Given the description of an element on the screen output the (x, y) to click on. 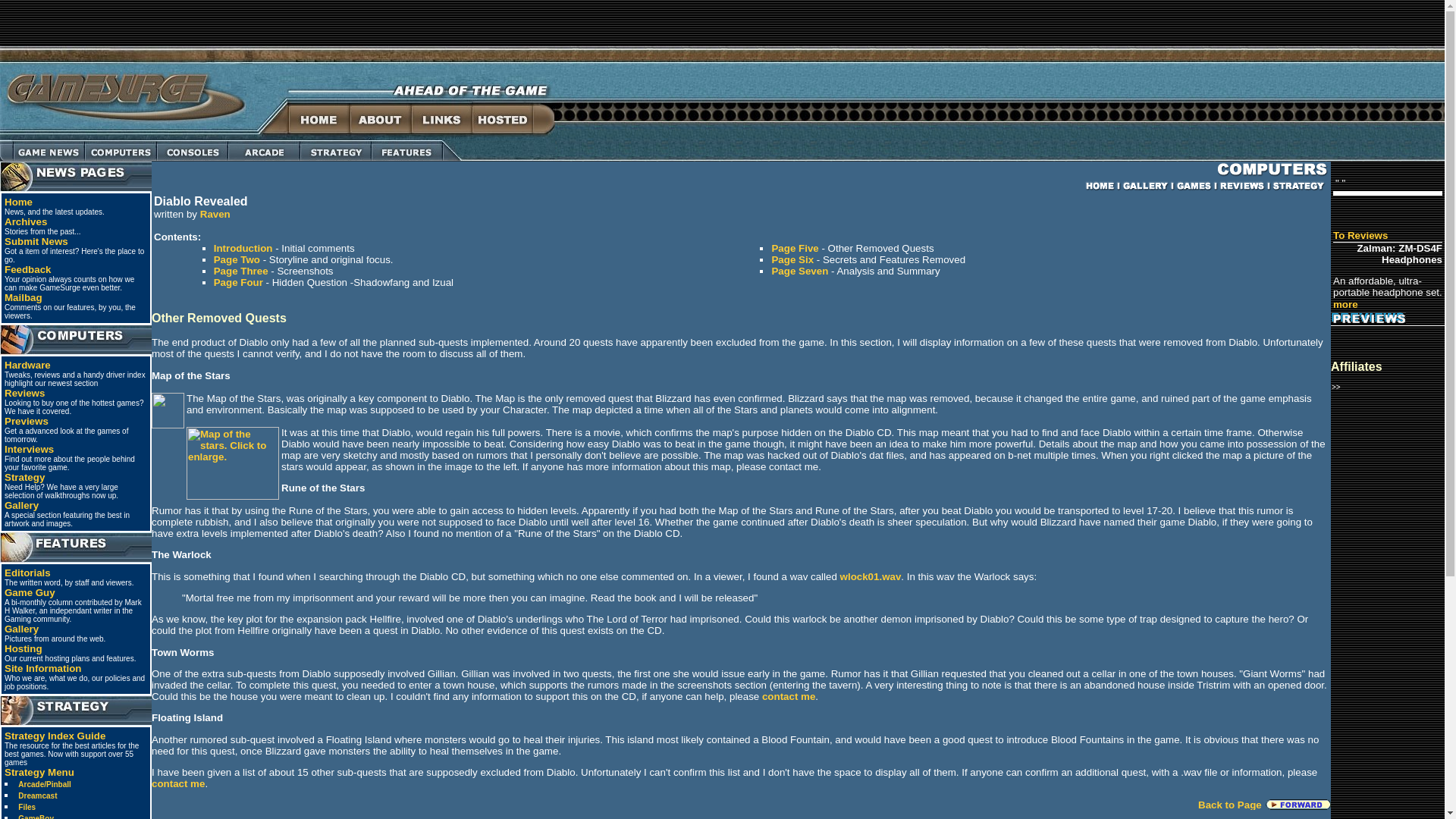
Home (18, 202)
Page Two (237, 259)
Gallery (21, 505)
Dreamcast (36, 795)
Mailbag (23, 297)
Gallery (21, 628)
Strategy Index Guide (54, 736)
Game Guy (29, 592)
Editorials (27, 572)
GameBoy (35, 816)
Reviews (24, 392)
Site Information (42, 668)
Submit News (36, 241)
Hosting (23, 648)
Files (25, 807)
